Given the description of an element on the screen output the (x, y) to click on. 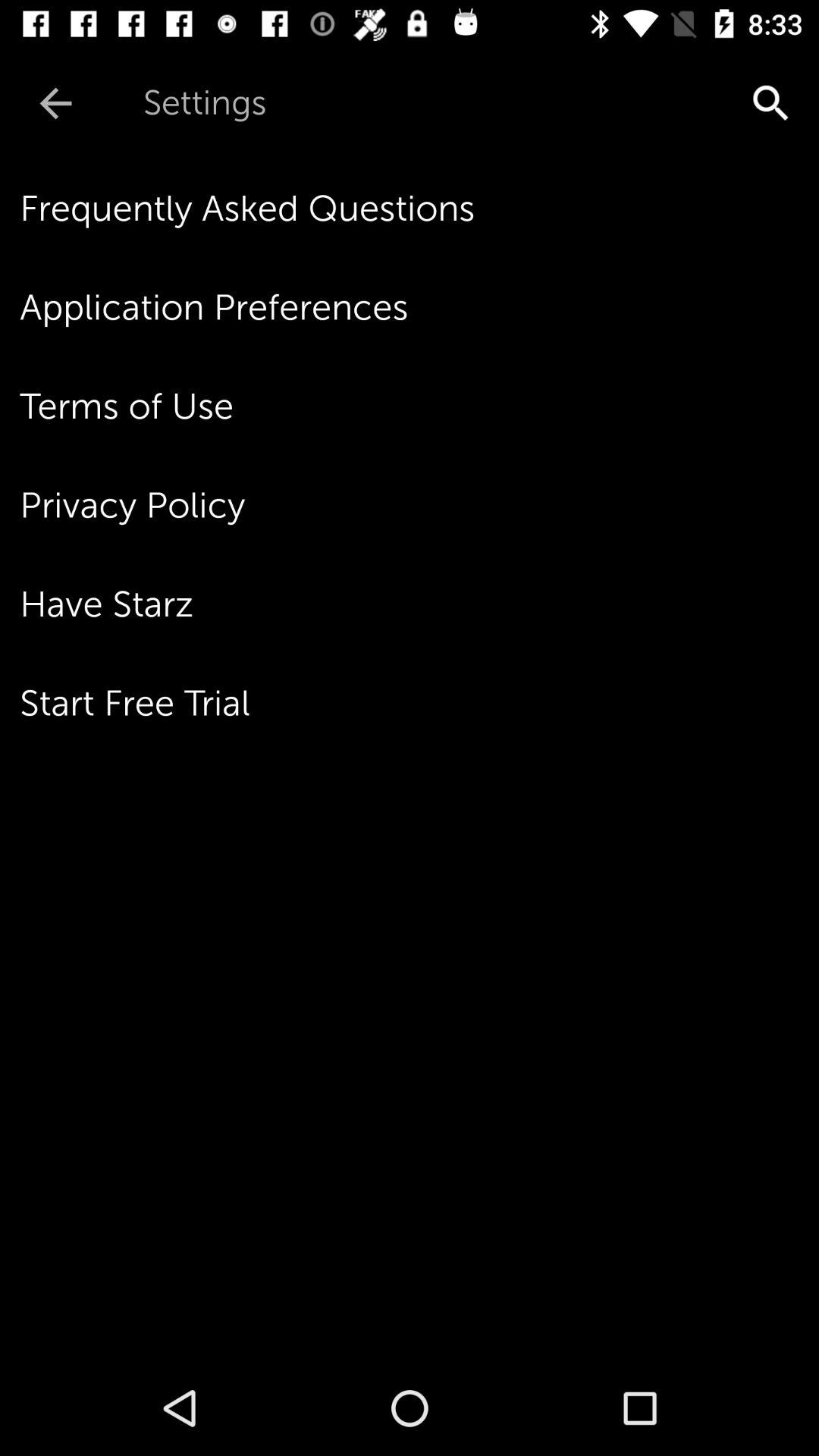
tap icon above the have starz icon (419, 505)
